Given the description of an element on the screen output the (x, y) to click on. 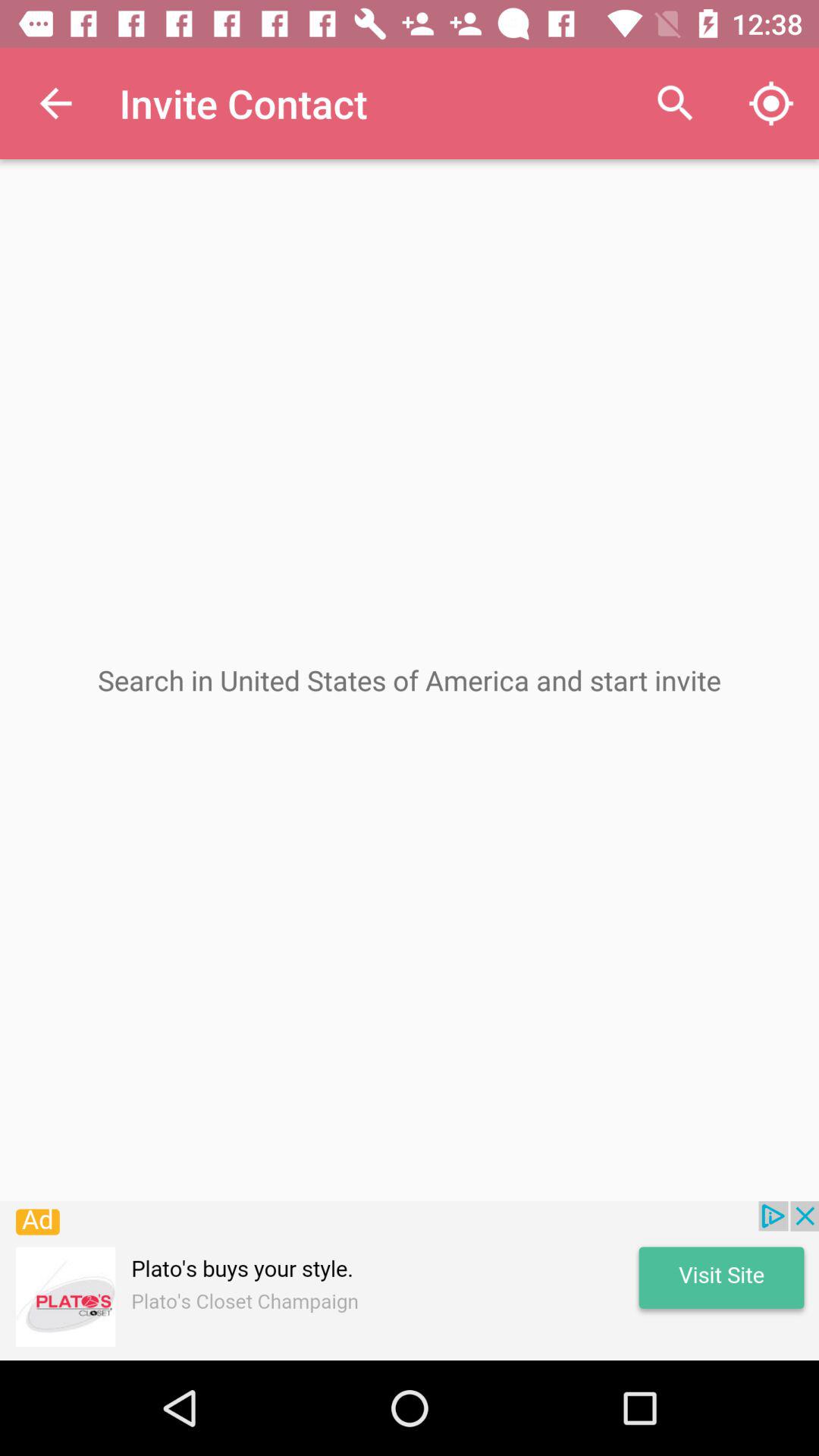
link to advertisement (409, 1280)
